Given the description of an element on the screen output the (x, y) to click on. 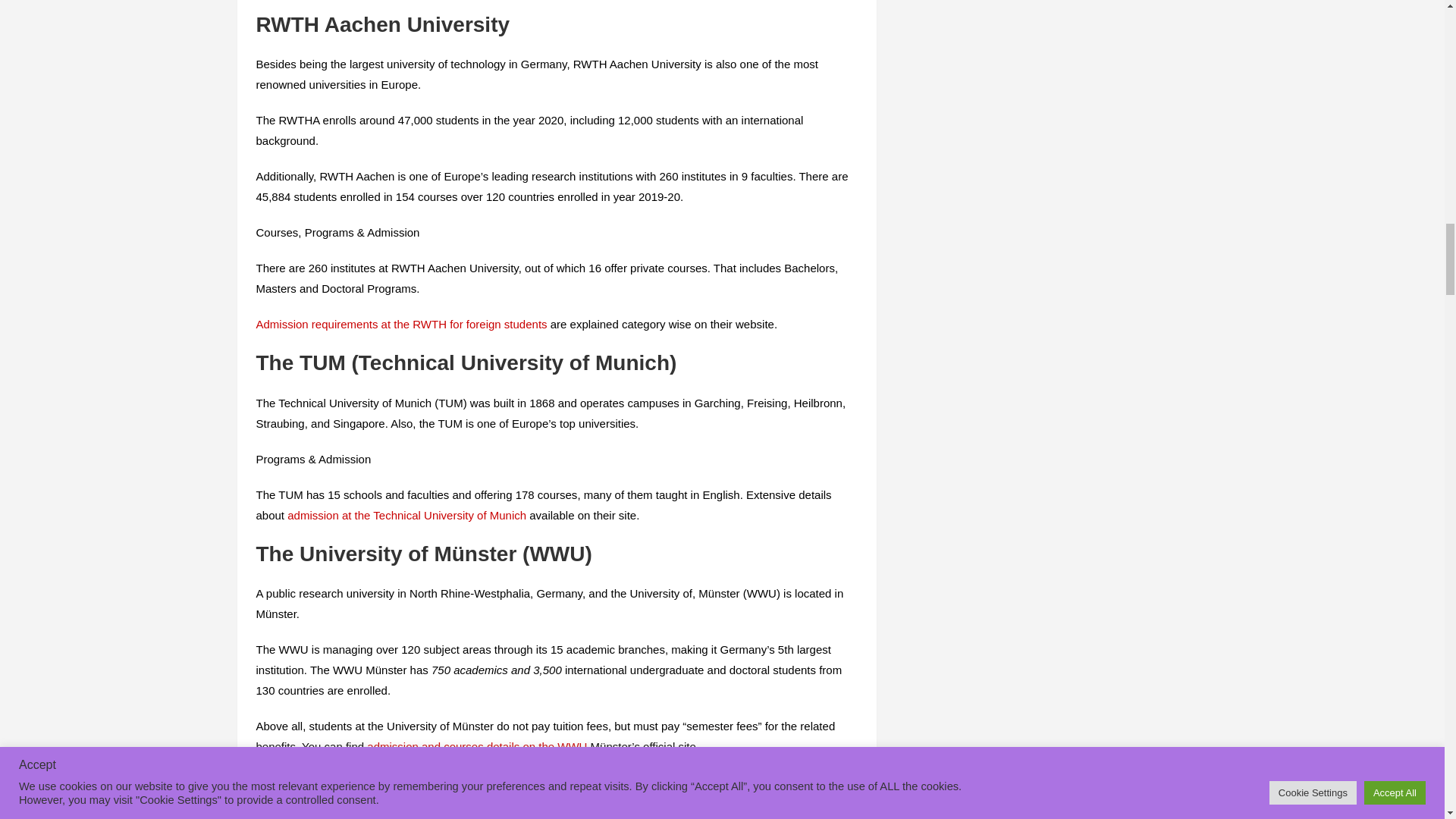
Admission requirements at the RWTH for foreign students (401, 323)
admission and courses details on the WWU (476, 746)
admission at the Technical University of Munich (405, 514)
